Given the description of an element on the screen output the (x, y) to click on. 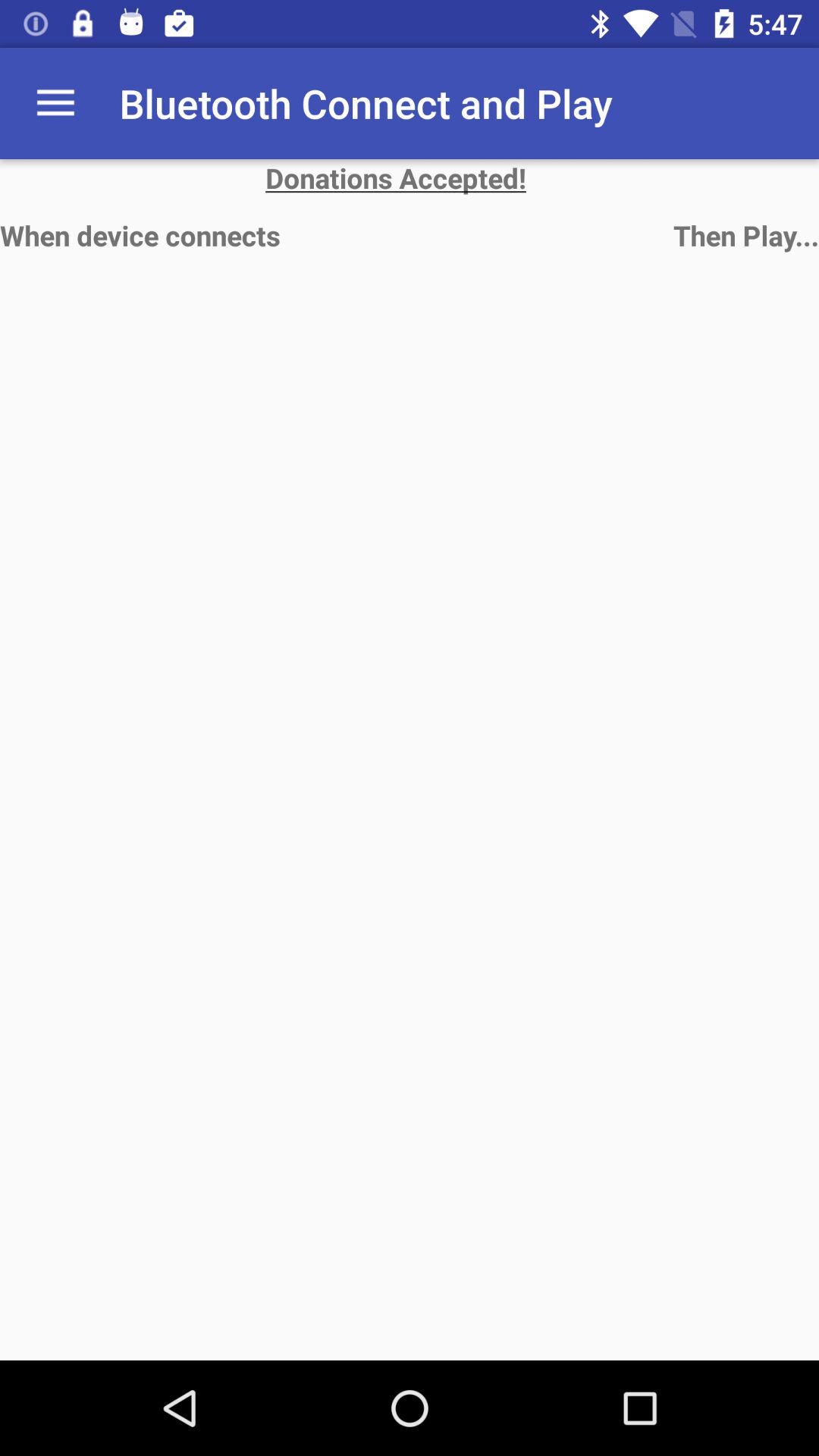
click item next to the bluetooth connect and (55, 103)
